Given the description of an element on the screen output the (x, y) to click on. 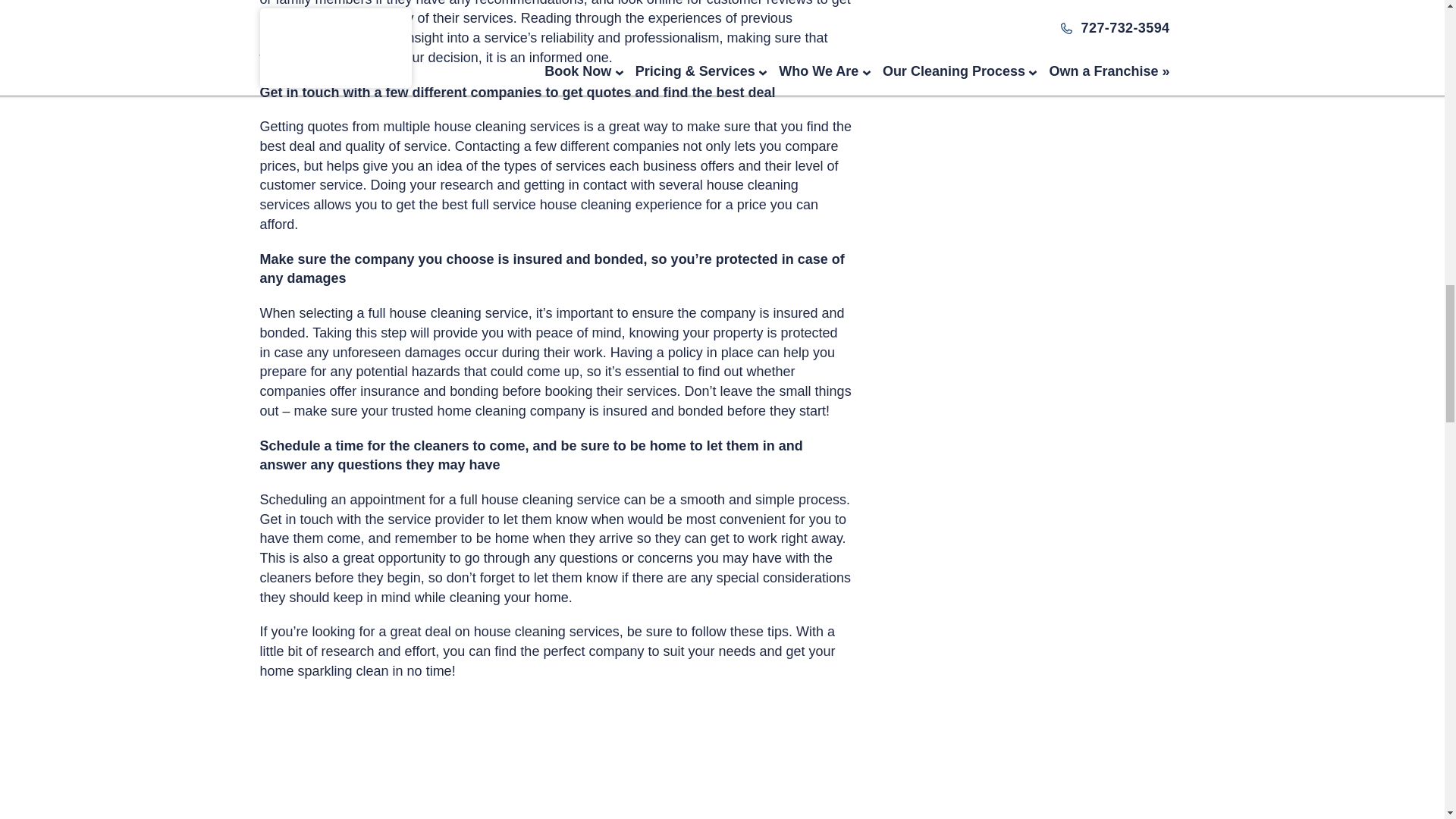
house cleaning service (550, 499)
